Given the description of an element on the screen output the (x, y) to click on. 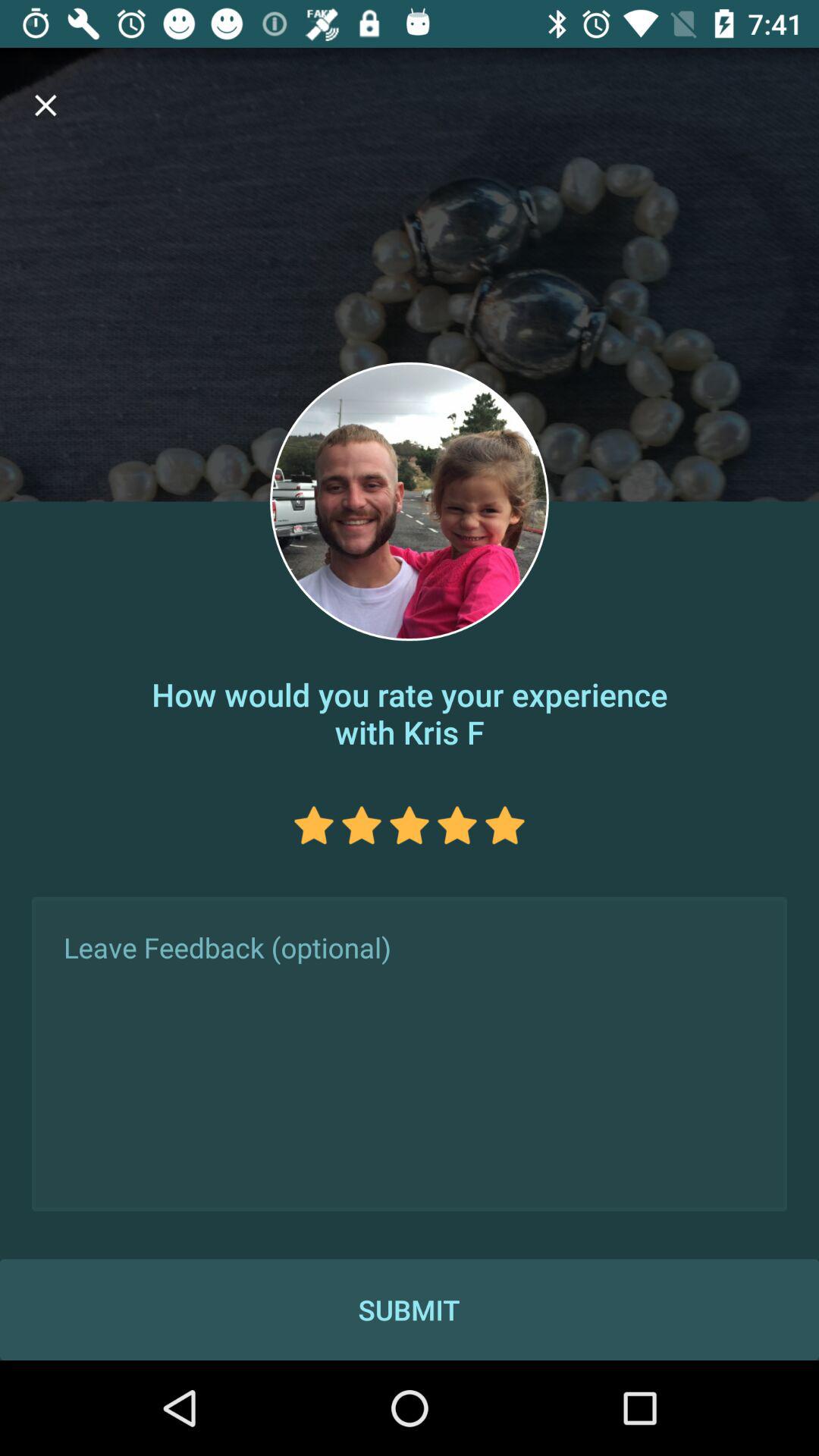
rate 5 stars (504, 825)
